Given the description of an element on the screen output the (x, y) to click on. 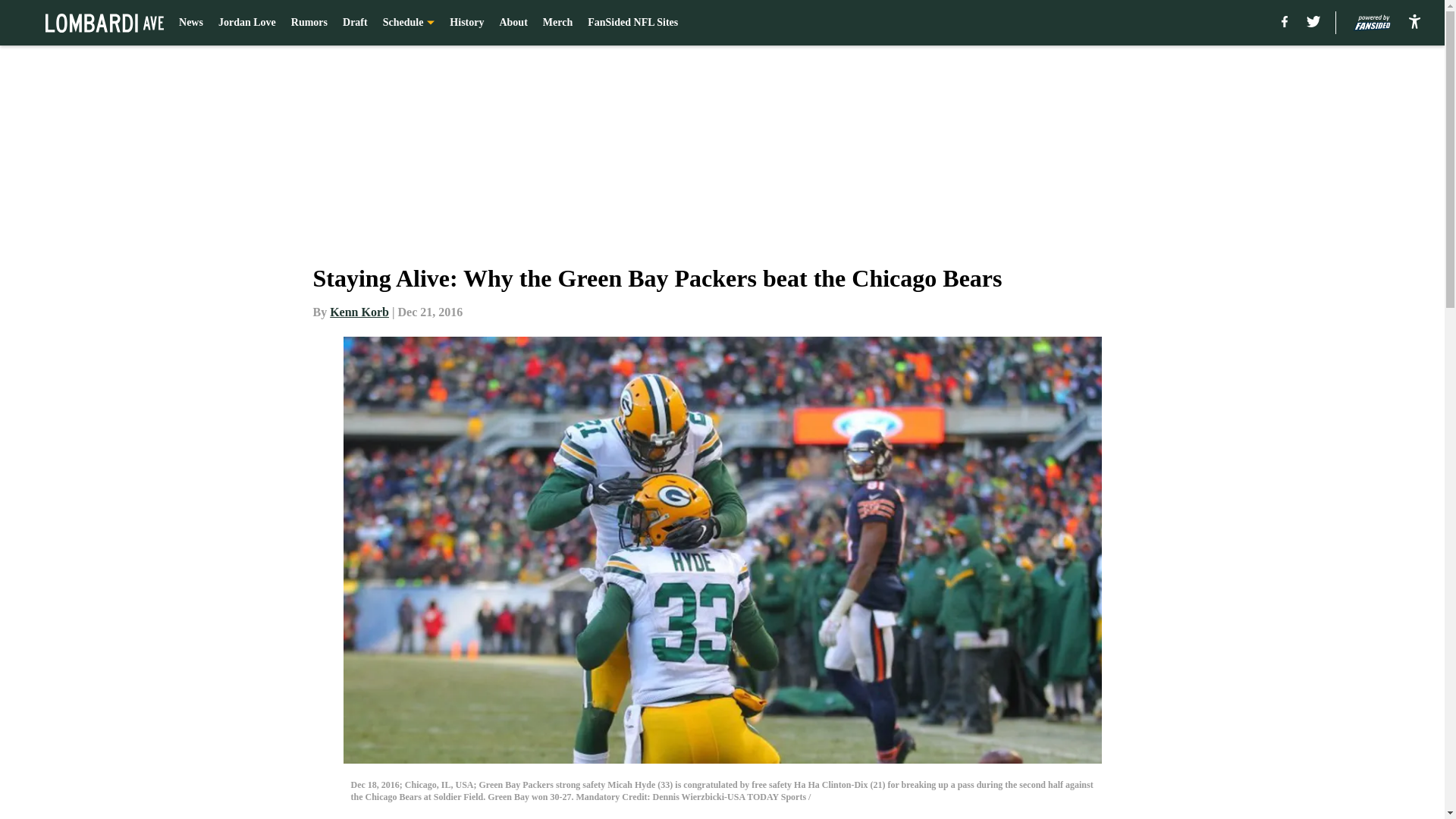
Rumors (309, 22)
Kenn Korb (359, 311)
Merch (557, 22)
Jordan Love (247, 22)
Draft (355, 22)
History (466, 22)
News (191, 22)
FanSided NFL Sites (633, 22)
About (513, 22)
